Given the description of an element on the screen output the (x, y) to click on. 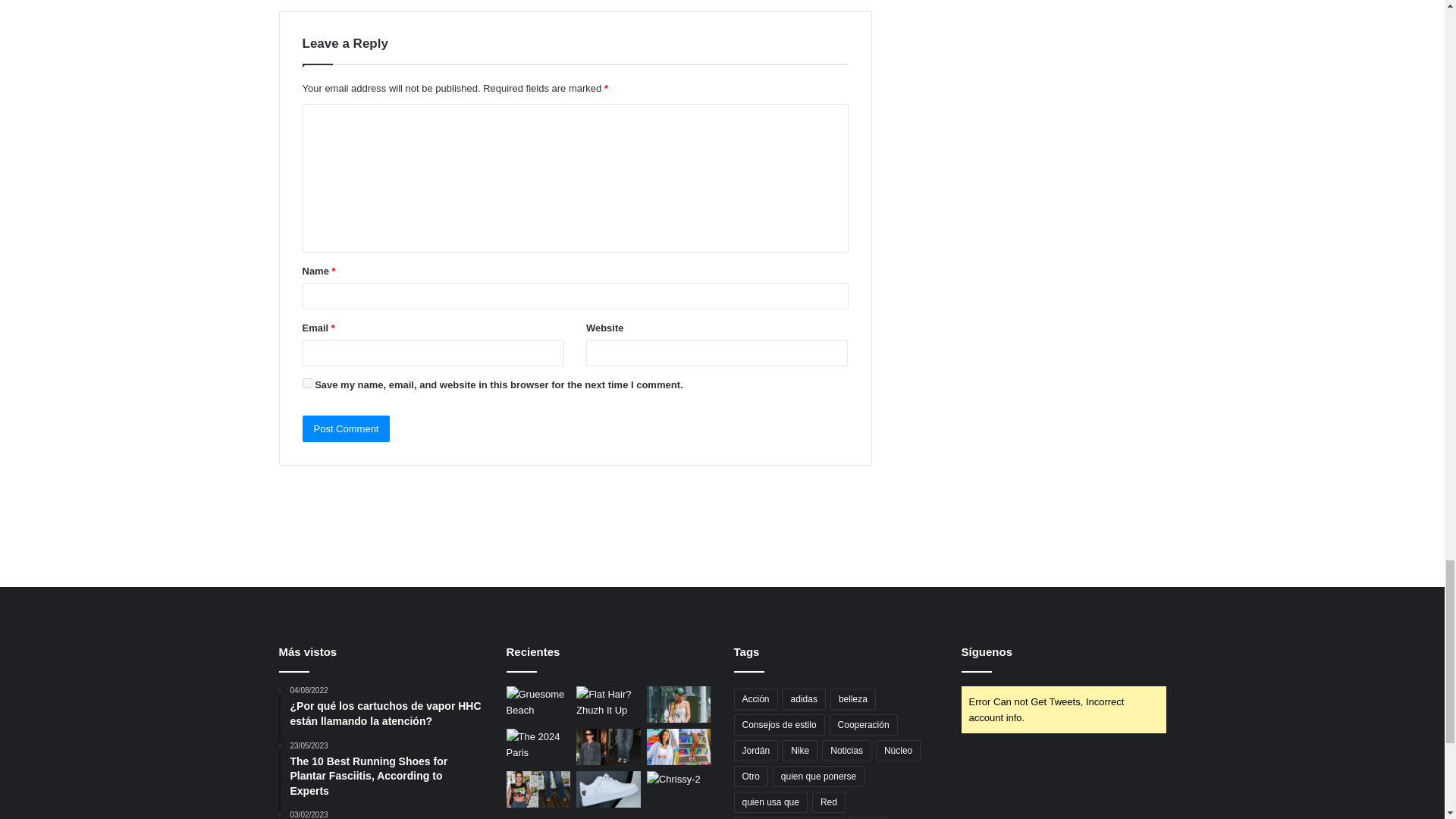
Post Comment (345, 428)
yes (306, 383)
